Given the description of an element on the screen output the (x, y) to click on. 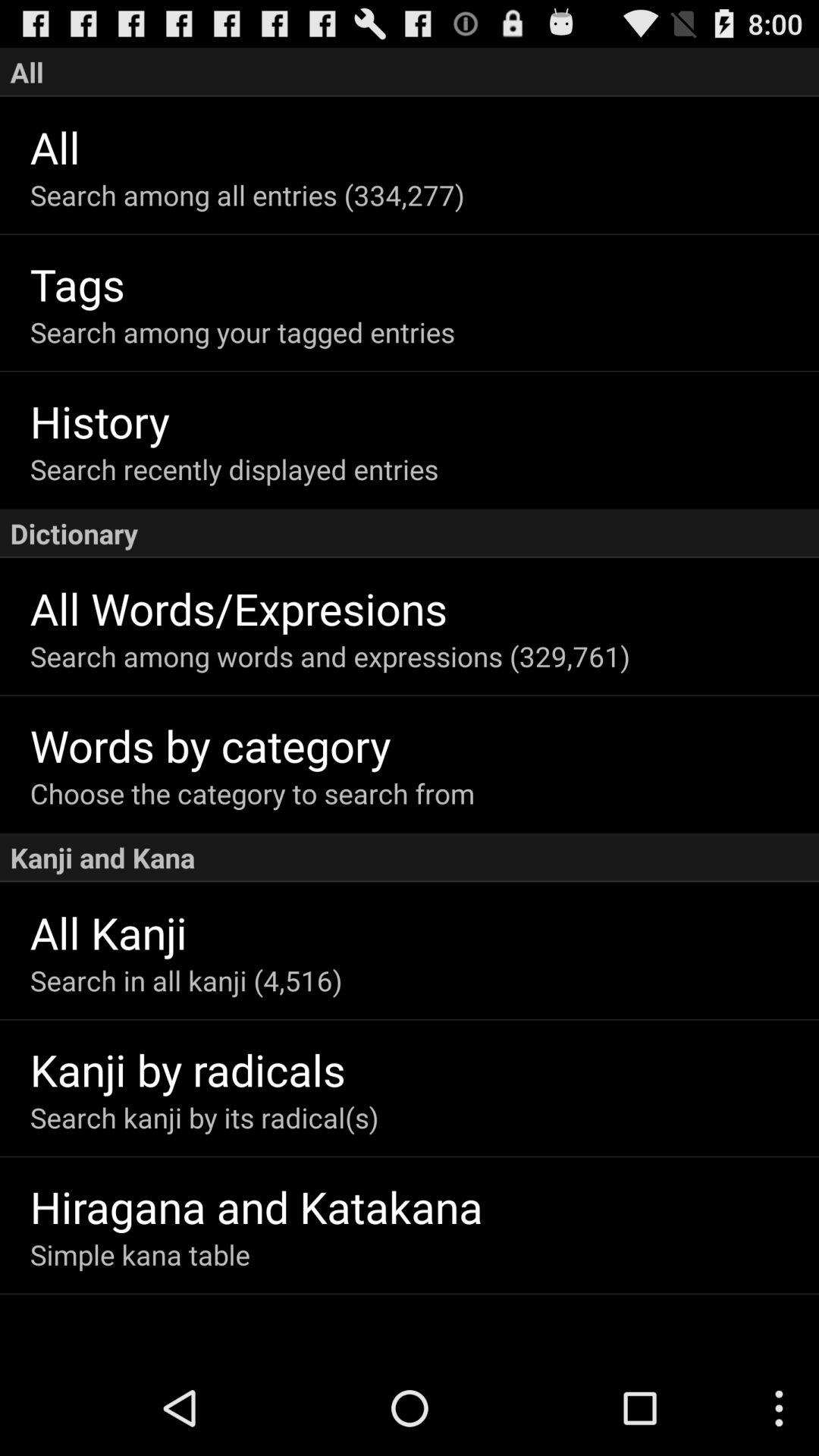
press the item below search recently displayed app (409, 533)
